Given the description of an element on the screen output the (x, y) to click on. 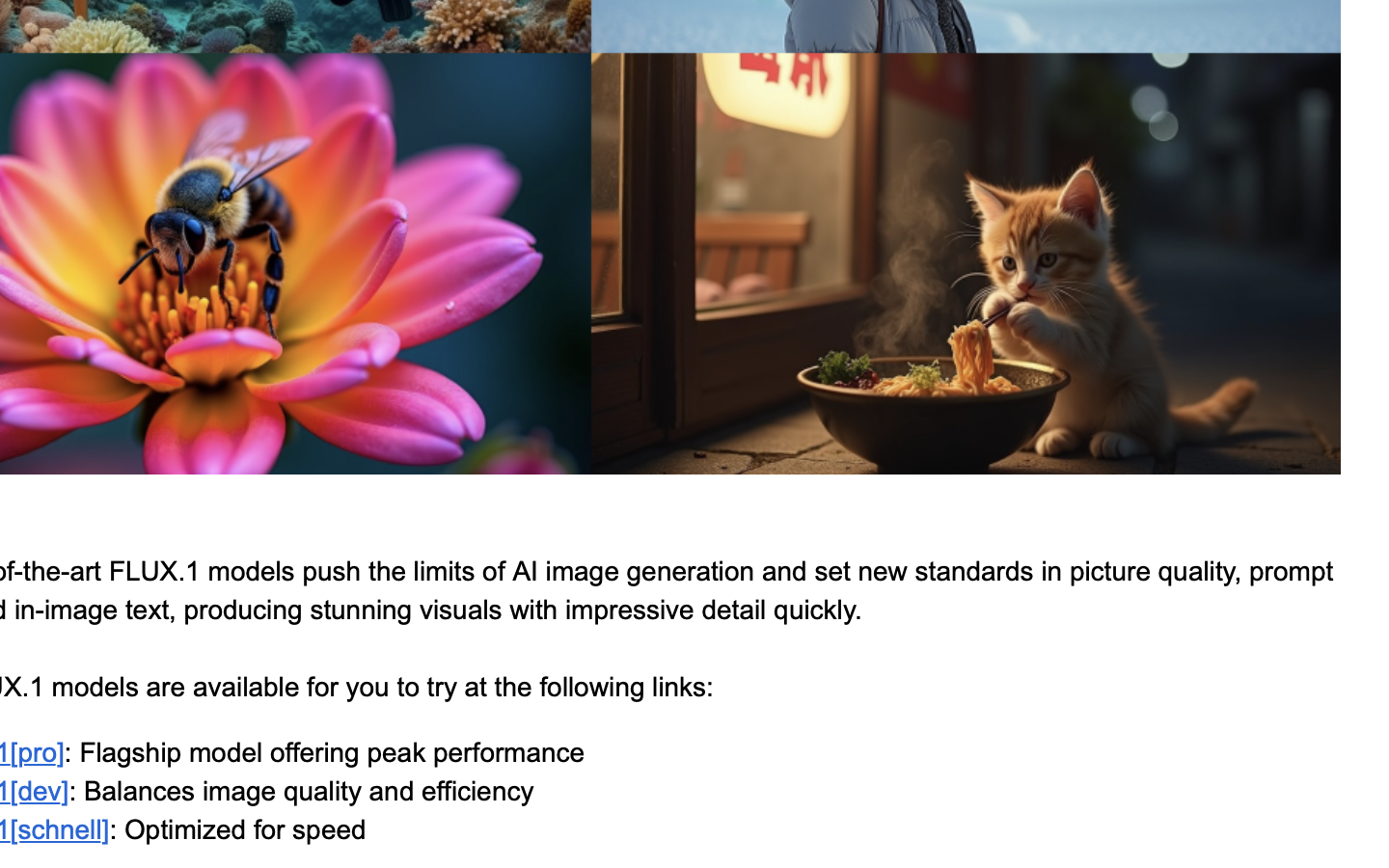
: Balances image quality and efficiency Element type: AXStaticText (300, 790)
: Flagship model offering peak performance Element type: AXStaticText (324, 751)
: Optimized for speed Element type: AXStaticText (237, 828)
